Given the description of an element on the screen output the (x, y) to click on. 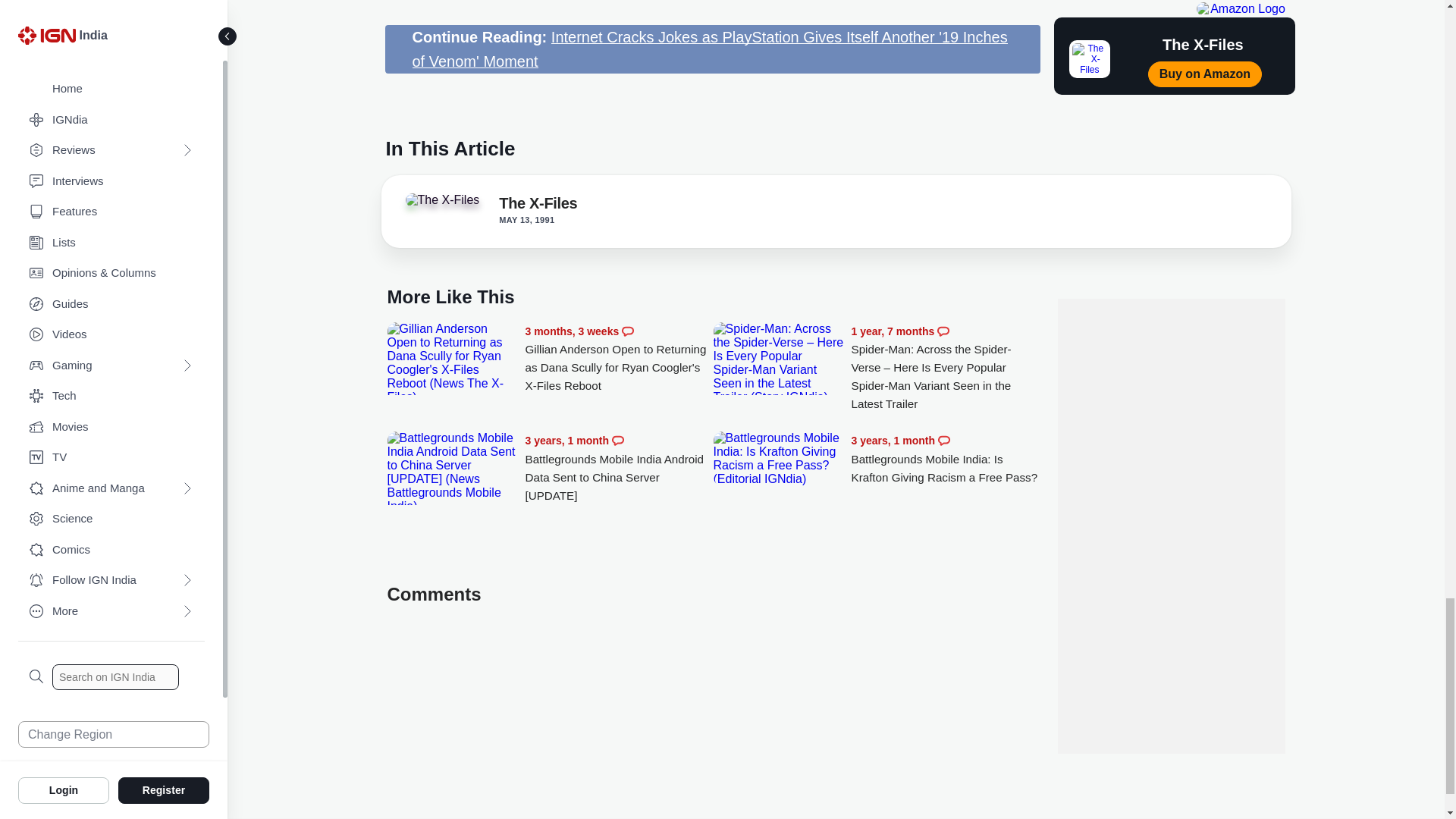
The X-Files (448, 204)
The X-Files (441, 200)
The X-Files (537, 205)
